Given the description of an element on the screen output the (x, y) to click on. 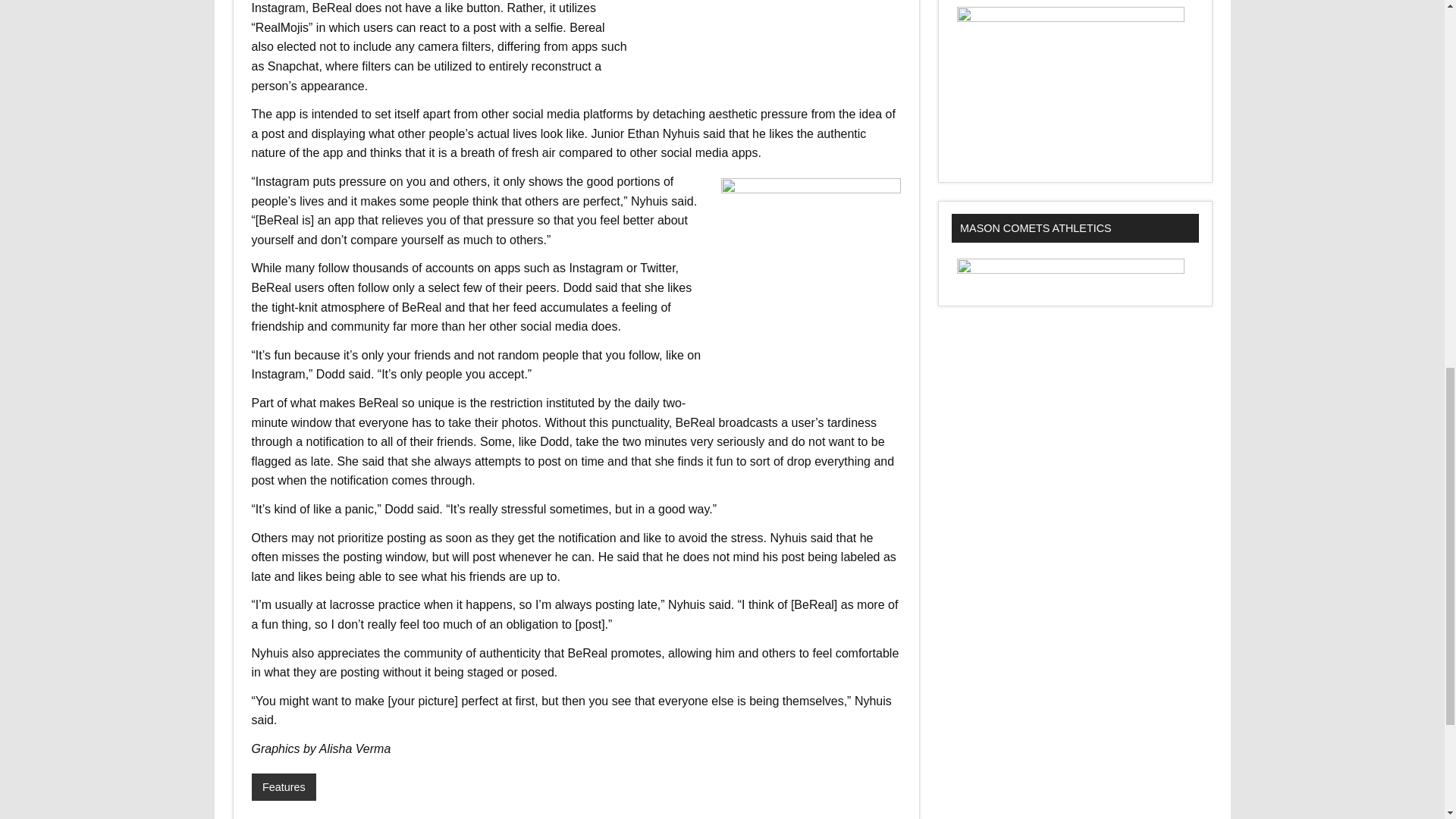
Features (284, 786)
